Given the description of an element on the screen output the (x, y) to click on. 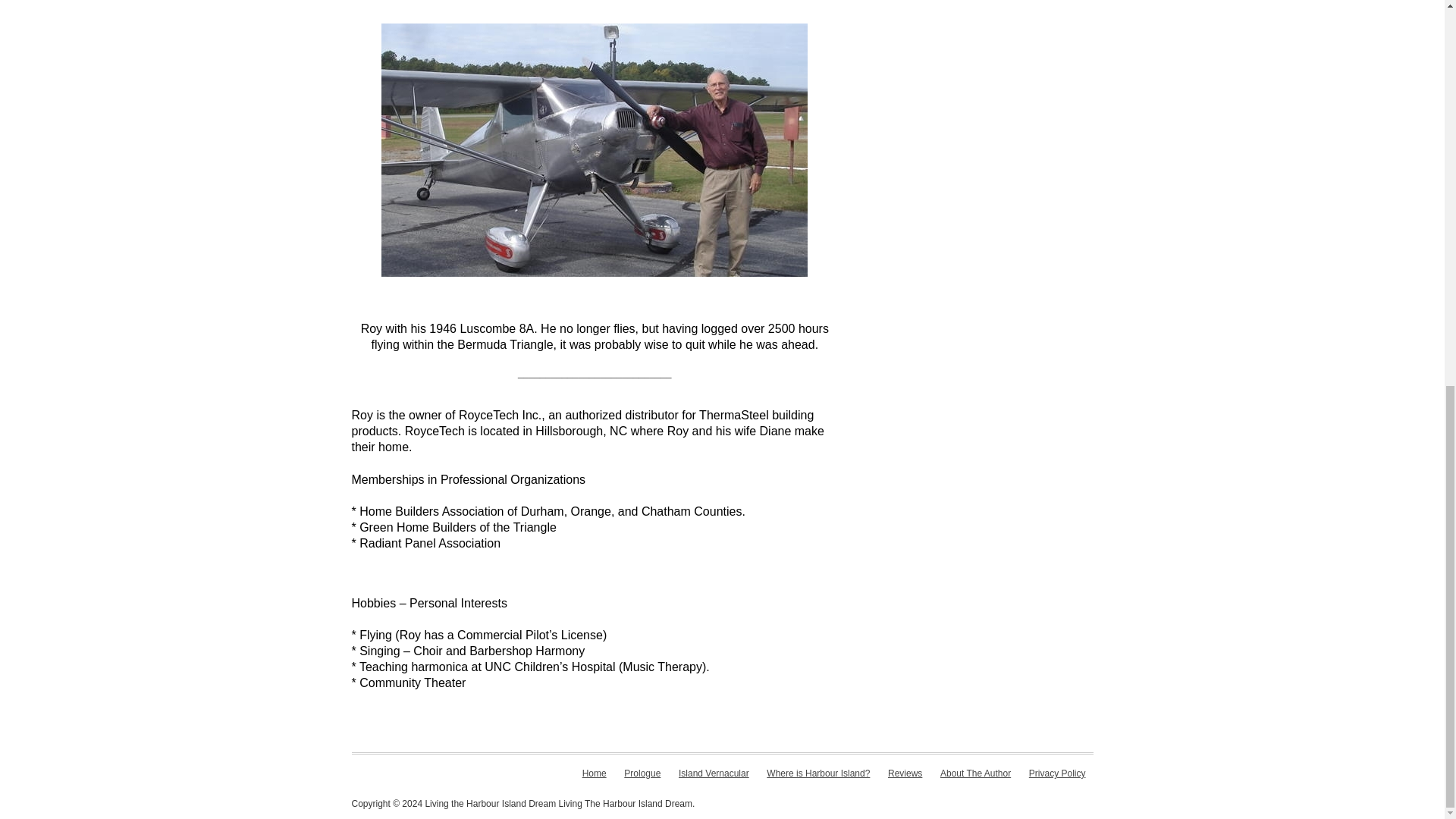
Reviews (904, 773)
Prologue (642, 773)
Where is Harbour Island? (818, 773)
Living the Harbour Island Dream (490, 803)
Privacy Policy (1057, 773)
Home (594, 773)
About The Author (975, 773)
Living the Harbour Island Dream (490, 803)
Island Vernacular (713, 773)
Home (594, 773)
